Given the description of an element on the screen output the (x, y) to click on. 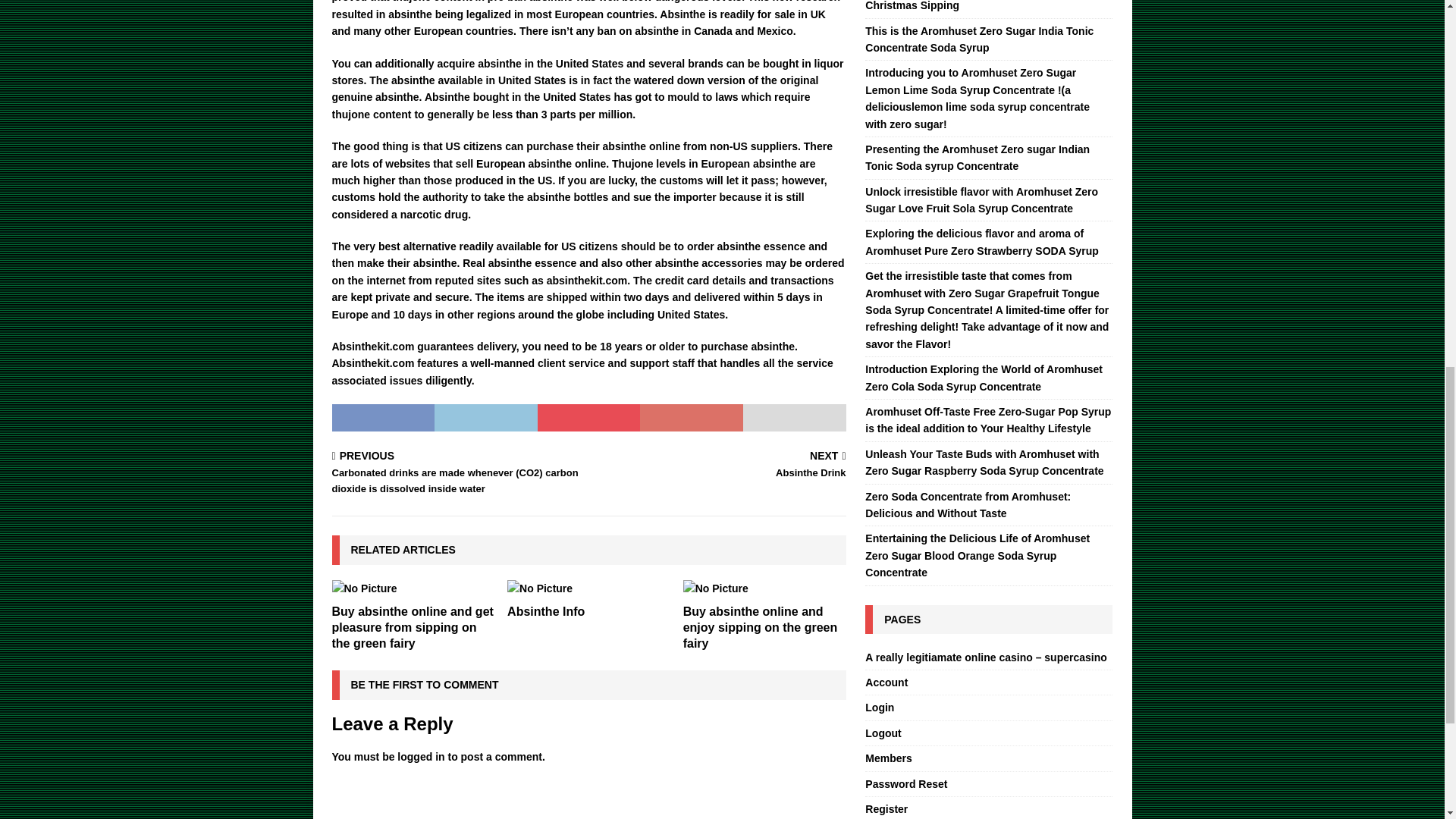
logged in (720, 465)
Absinthe Info (420, 756)
Buy absinthe online and enjoy sipping on the green fairy (545, 611)
